Given the description of an element on the screen output the (x, y) to click on. 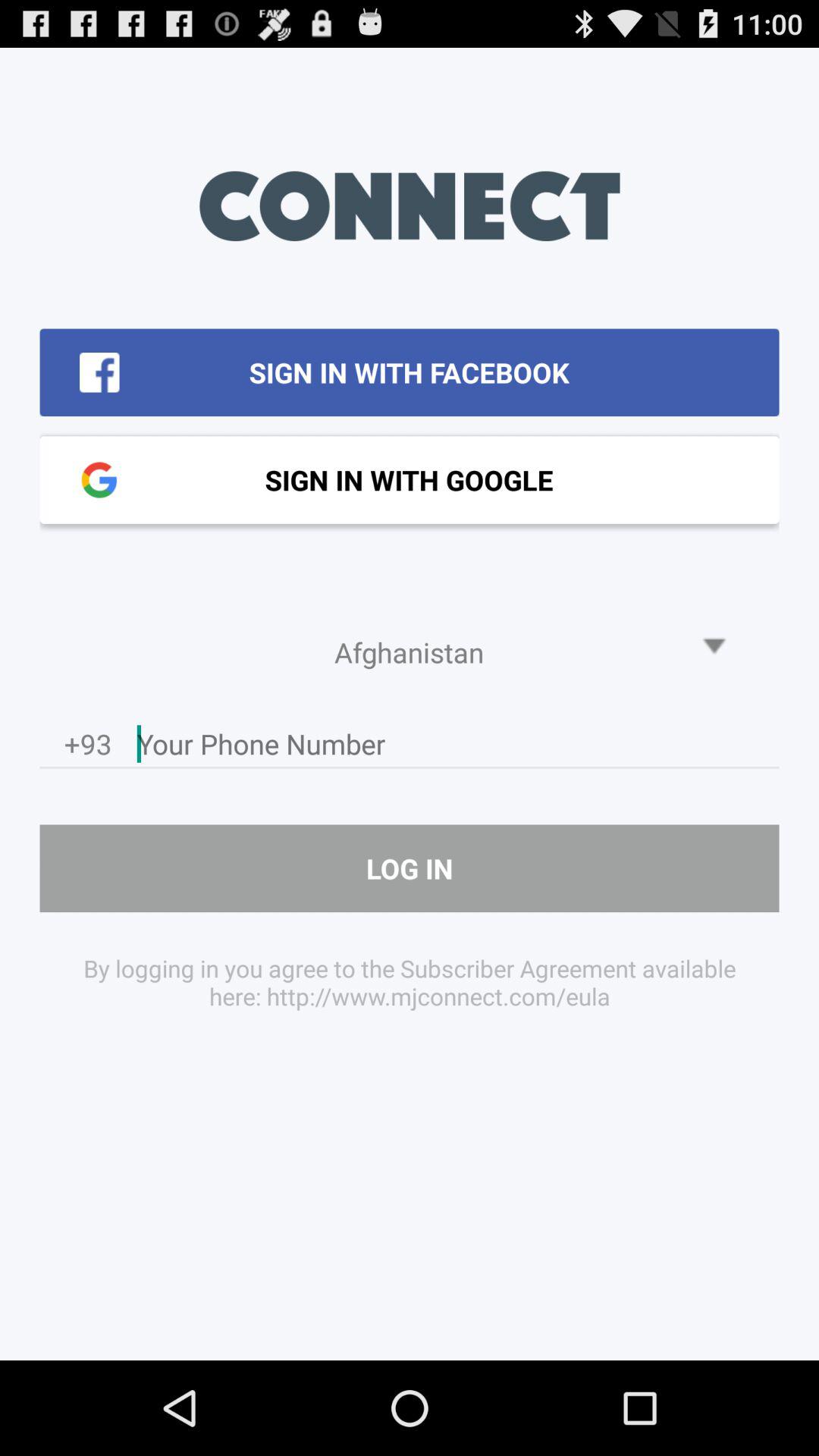
press the by logging in at the bottom (409, 982)
